Given the description of an element on the screen output the (x, y) to click on. 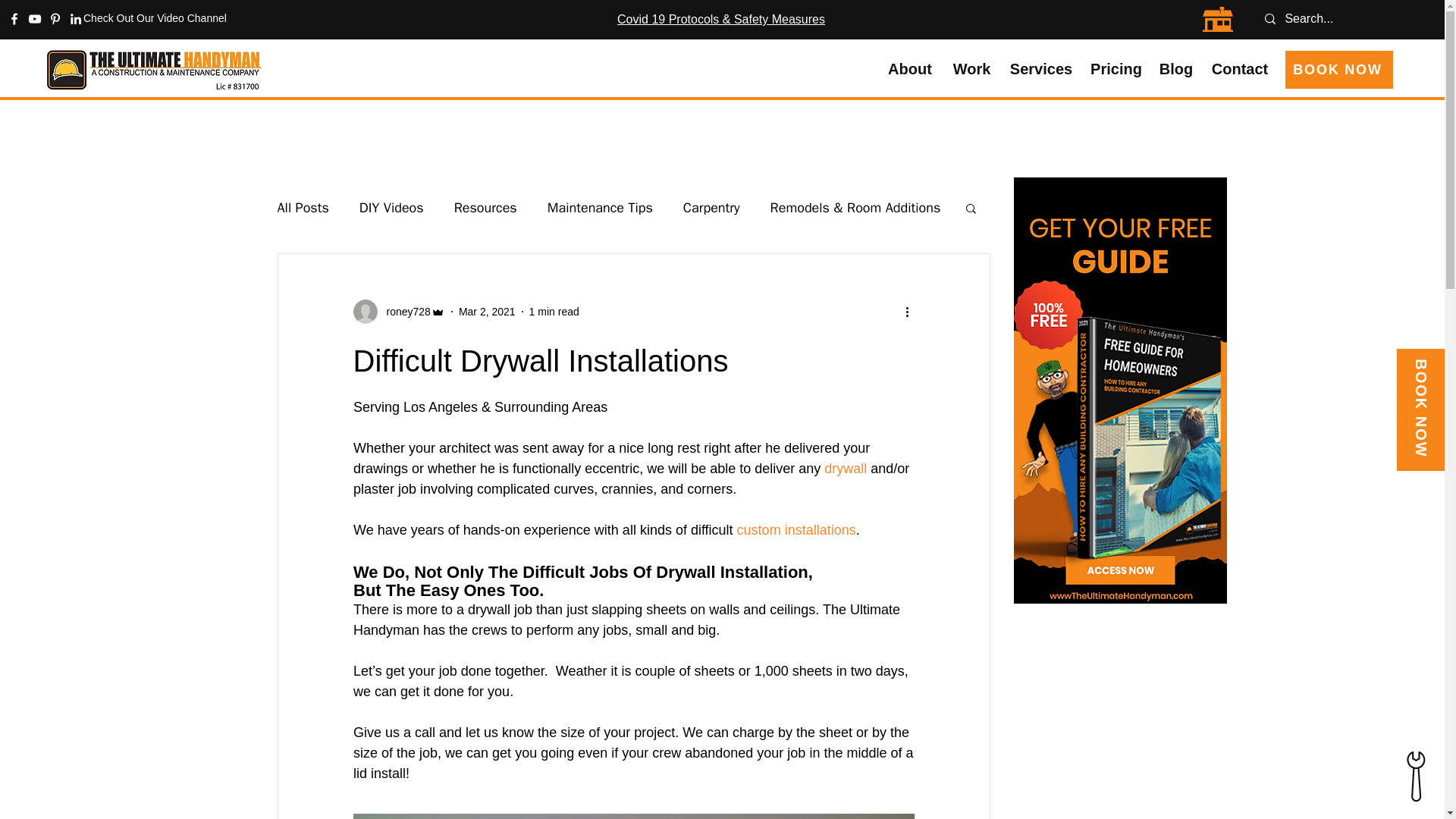
Carpentry (710, 208)
Pricing (1116, 69)
BOOK NOW (1339, 69)
Resources (485, 208)
Blog (1176, 69)
roney728 (403, 311)
All Posts (303, 208)
1 min read (554, 311)
Contact (1239, 69)
Work (971, 69)
Check Out Our Video Channel (154, 18)
Maintenance Tips (599, 208)
DIY Videos (391, 208)
About (909, 69)
Mar 2, 2021 (486, 311)
